Given the description of an element on the screen output the (x, y) to click on. 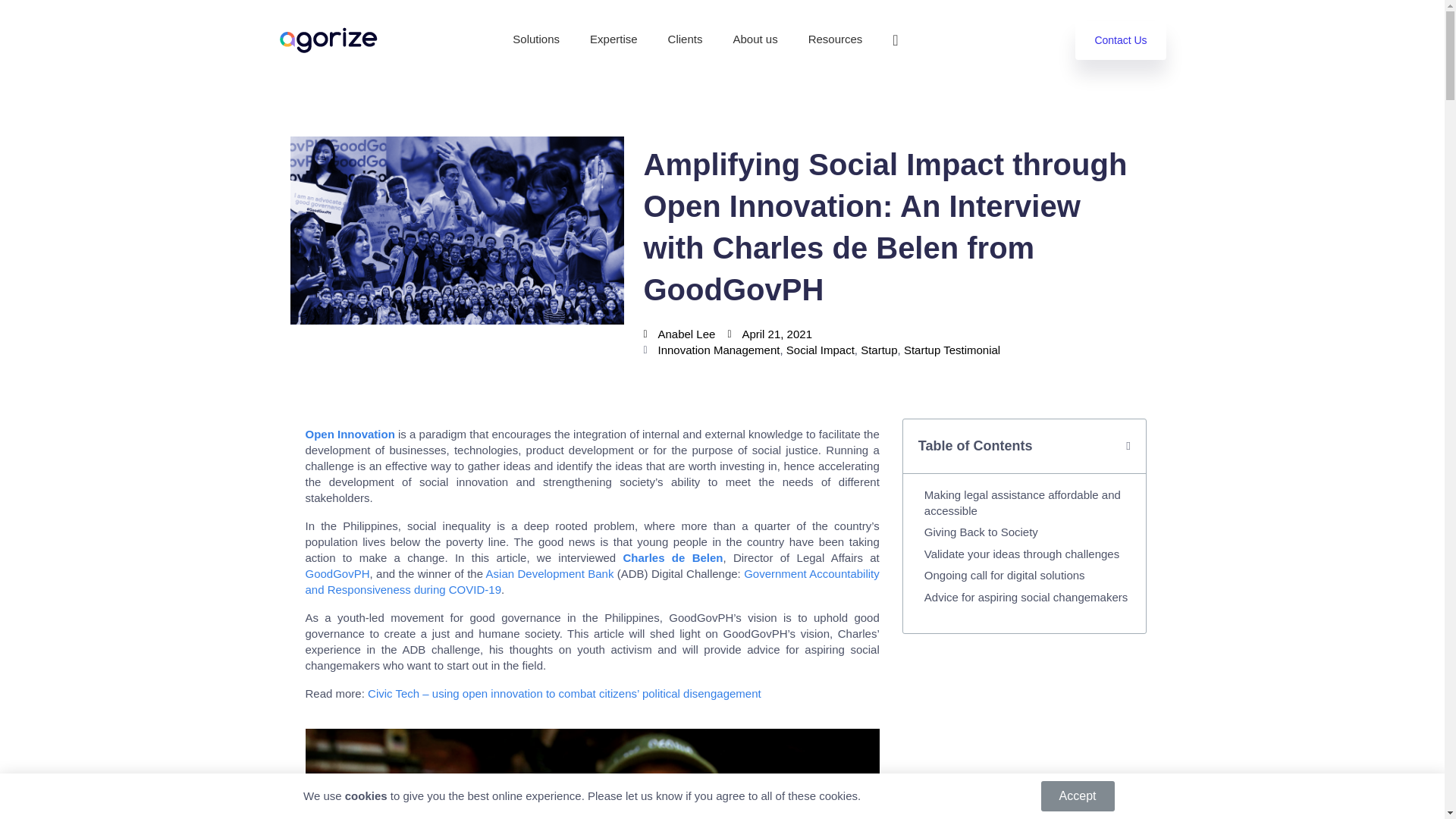
Resources (835, 38)
Clients (685, 38)
April 21, 2021 (769, 333)
Startup Testimonial (952, 349)
About us (754, 38)
Startup (878, 349)
Social Impact (820, 349)
Expertise (613, 38)
Innovation Management (719, 349)
Contact Us (1120, 40)
